Given the description of an element on the screen output the (x, y) to click on. 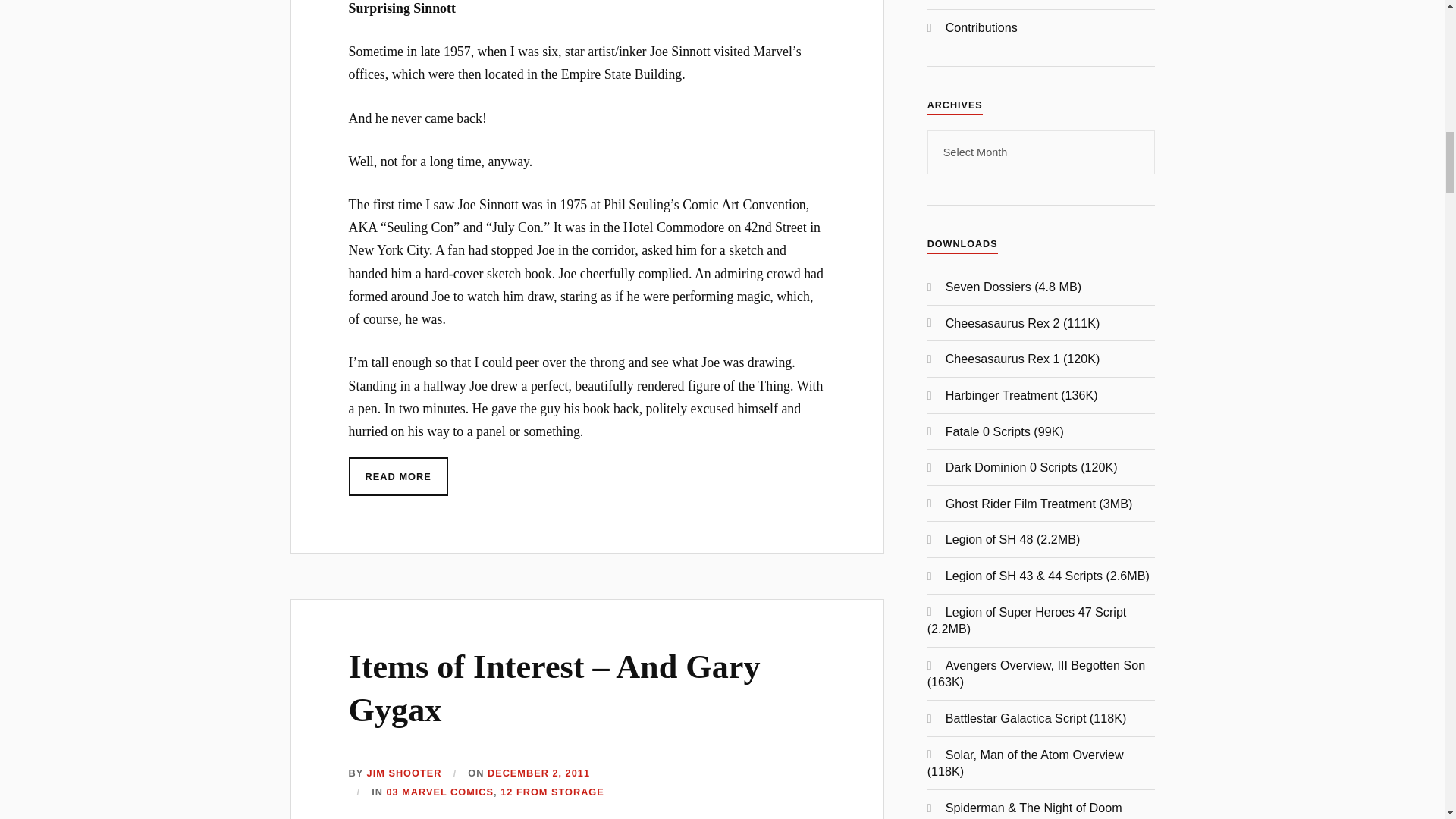
Posts by Jim Shooter (404, 773)
